Given the description of an element on the screen output the (x, y) to click on. 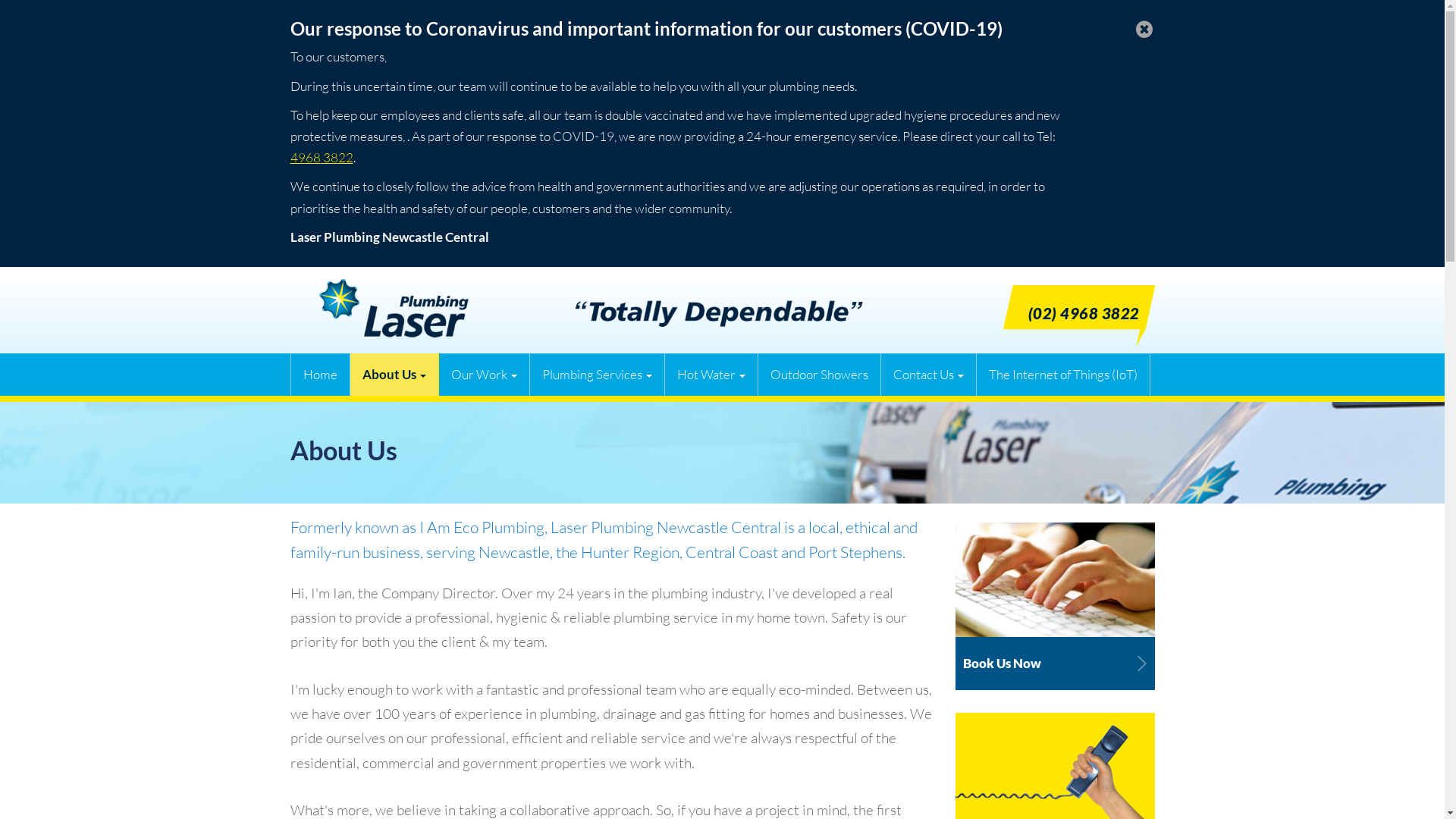
Our Work Element type: text (483, 374)
Contact Us Element type: text (928, 374)
Hot Water Element type: text (710, 374)
The Internet of Things (IoT) Element type: text (1063, 374)
Home Element type: text (320, 374)
4968 3822 Element type: text (320, 157)
Book Us Now Element type: text (1054, 603)
Plumbing Services Element type: text (596, 374)
Outdoor Showers Element type: text (819, 374)
About Us Element type: text (394, 374)
